Given the description of an element on the screen output the (x, y) to click on. 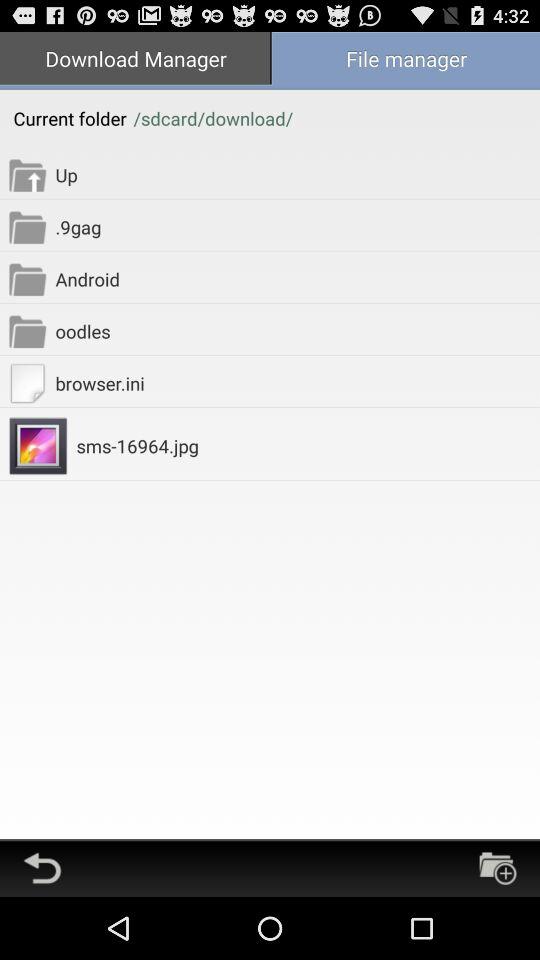
tap the item at the top right corner (405, 60)
